Given the description of an element on the screen output the (x, y) to click on. 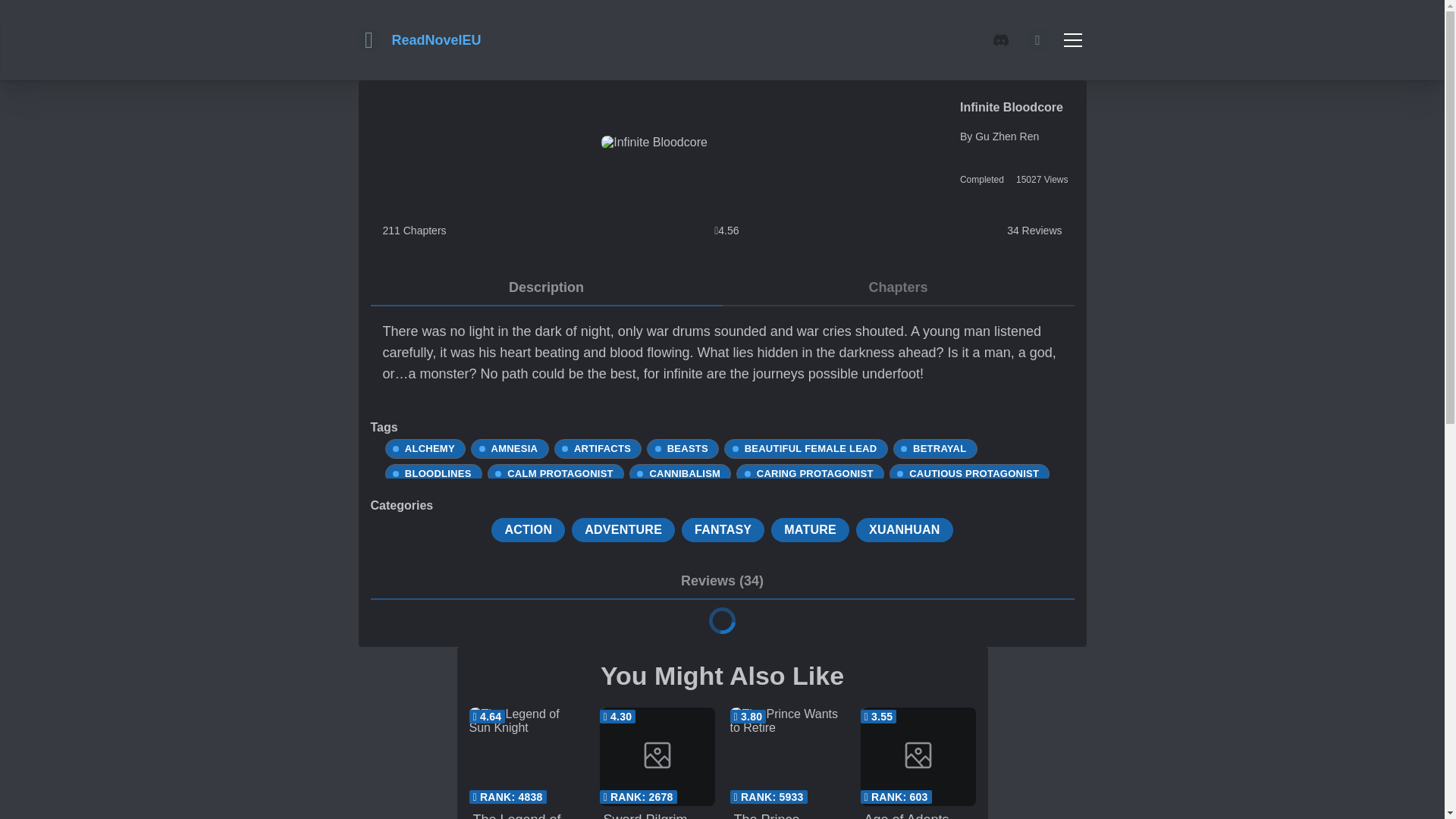
CANNIBALISM (680, 473)
BETRAYAL (935, 448)
ALCHEMY (424, 448)
AMNESIA (509, 448)
CAUTIOUS PROTAGONIST (969, 473)
Description (545, 288)
BEASTS (682, 448)
CALM PROTAGONIST (555, 473)
ARTIFACTS (598, 448)
Chapters (898, 288)
